Given the description of an element on the screen output the (x, y) to click on. 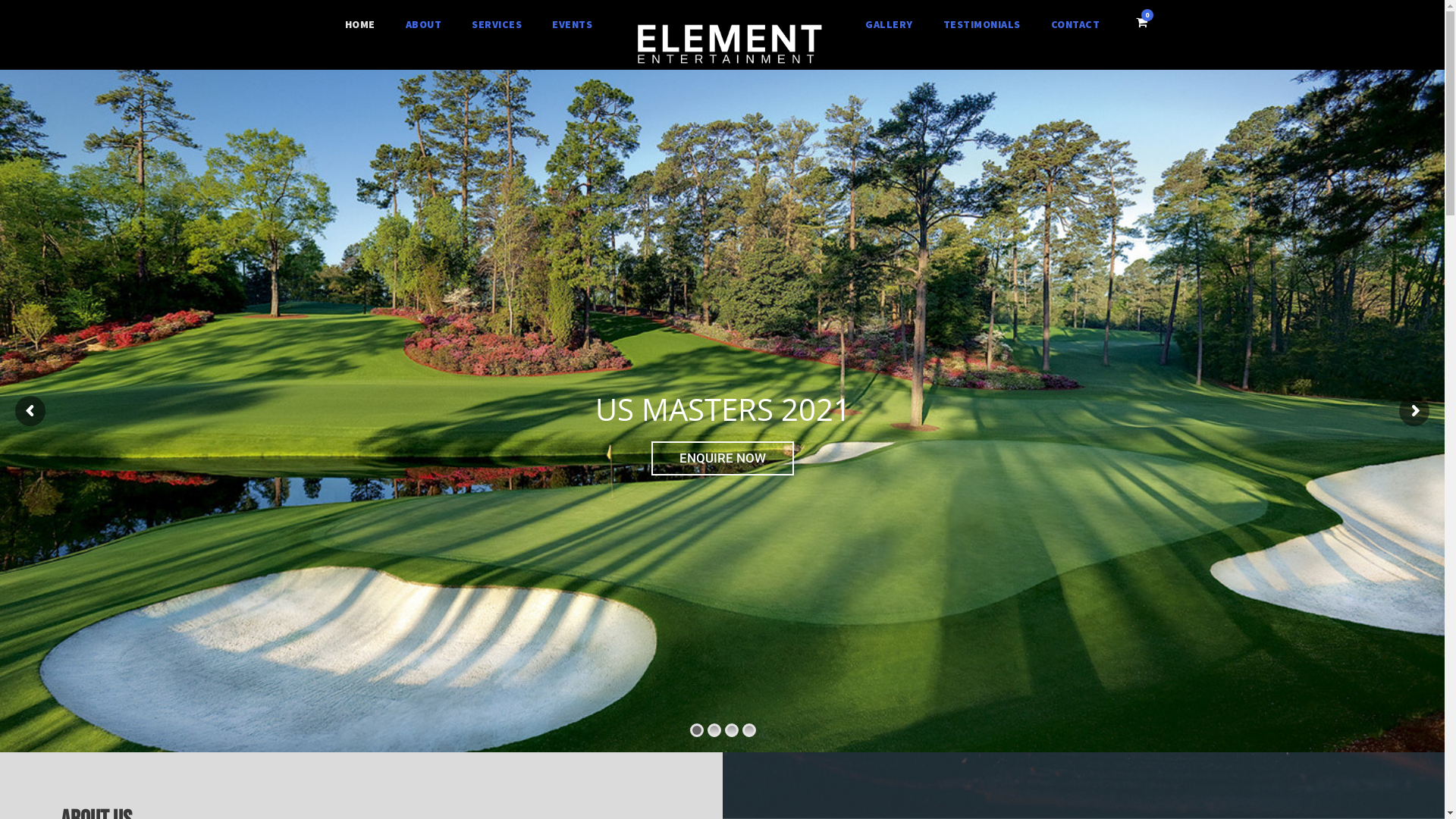
GALLERY Element type: text (889, 24)
ABOUT Element type: text (423, 24)
ENQUIRE NOW Element type: text (722, 458)
EVENTS Element type: text (572, 24)
SERVICES Element type: text (496, 24)
CONTACT Element type: text (1075, 24)
HOME Element type: text (360, 24)
TESTIMONIALS Element type: text (981, 24)
